Given the description of an element on the screen output the (x, y) to click on. 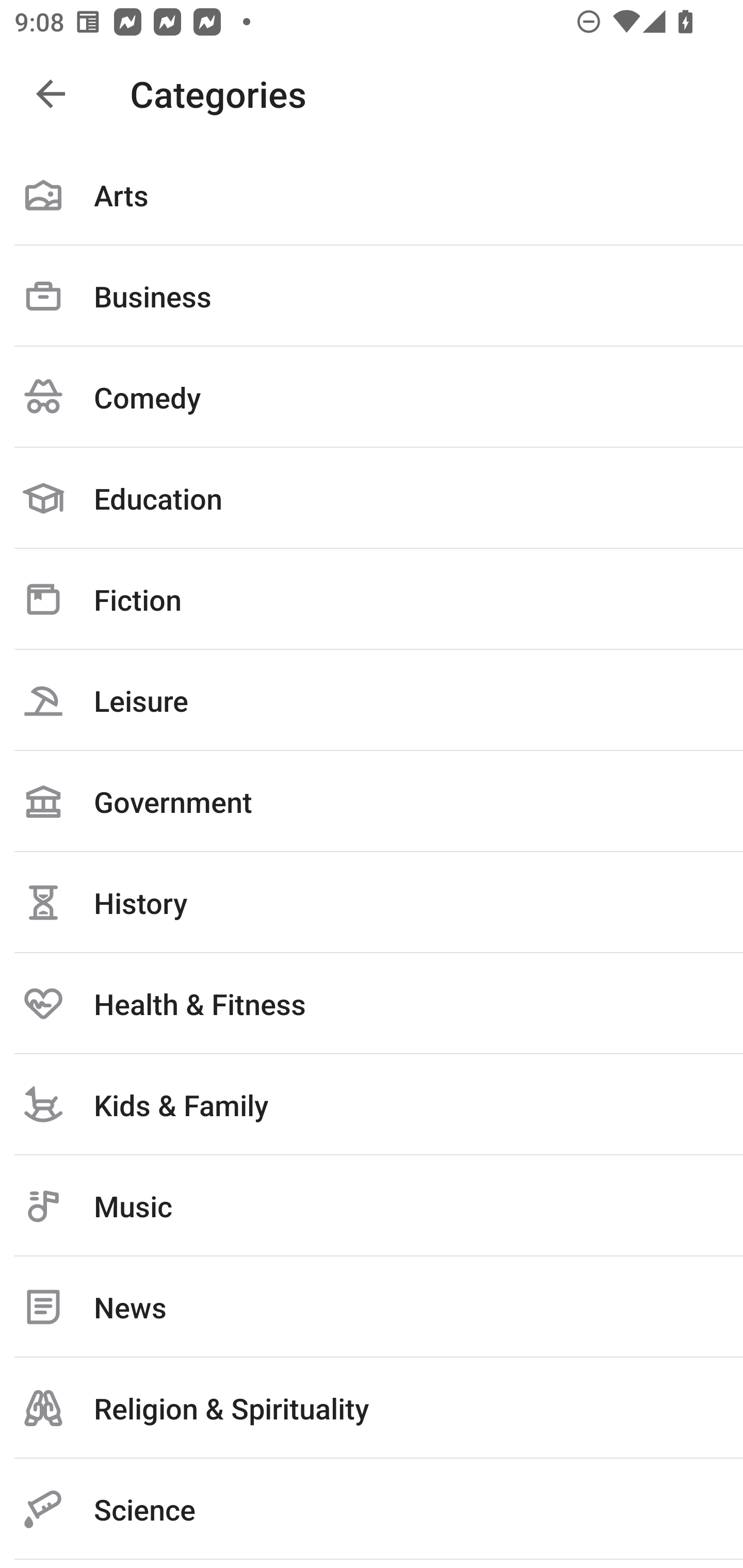
Navigate up (50, 93)
Arts (371, 195)
Business (371, 296)
Comedy (371, 397)
Education (371, 498)
Fiction (371, 598)
Leisure (371, 700)
Government (371, 801)
History (371, 902)
Health & Fitness (371, 1003)
Kids & Family (371, 1104)
Music (371, 1205)
News (371, 1306)
Religion & Spirituality (371, 1407)
Science (371, 1509)
